Given the description of an element on the screen output the (x, y) to click on. 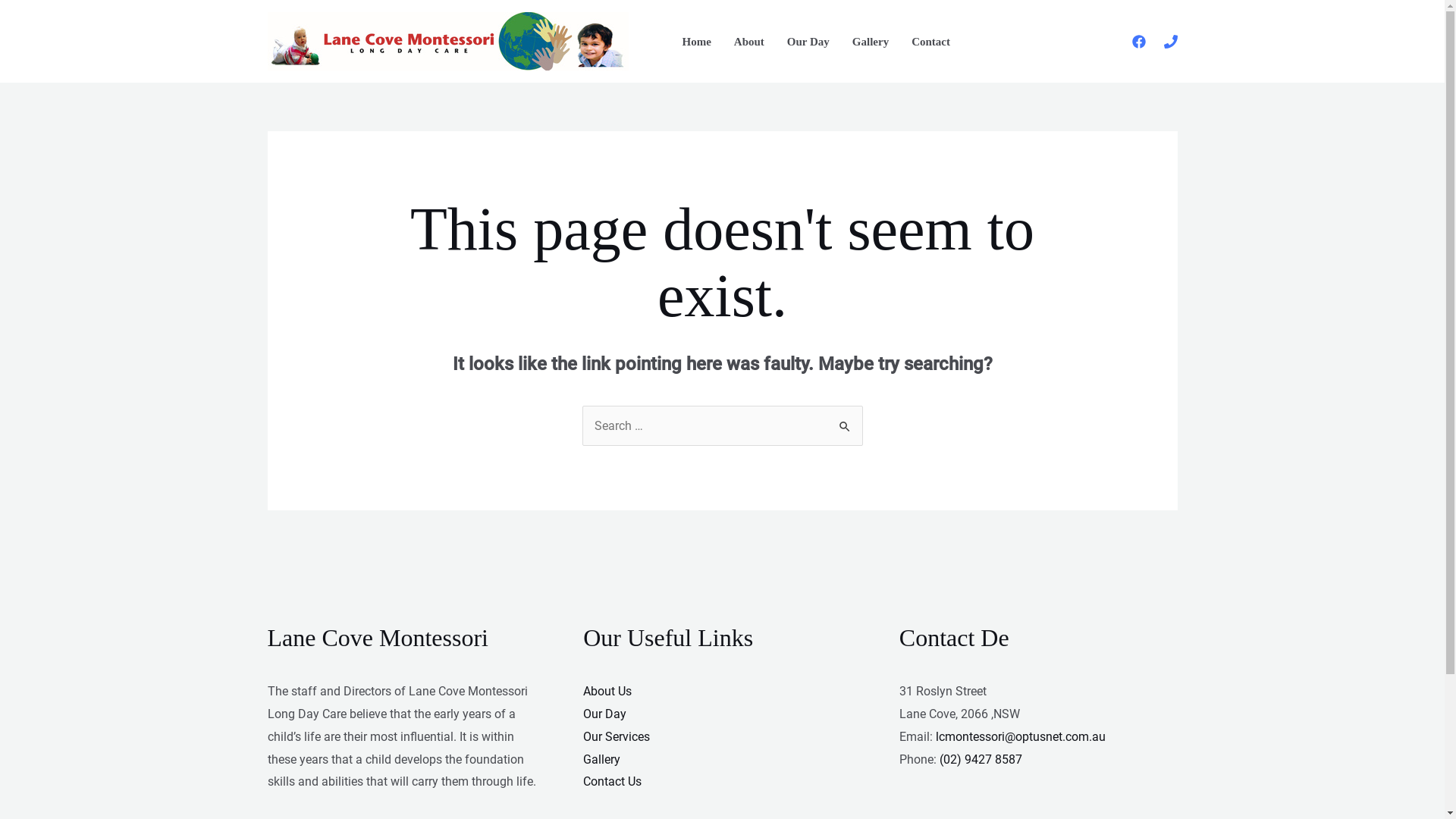
About Element type: text (748, 40)
Contact Element type: text (930, 40)
lcmontessori@optusnet.com.au Element type: text (1020, 736)
Contact Us Element type: text (612, 781)
Gallery Element type: text (601, 759)
Gallery Element type: text (870, 40)
Our Services Element type: text (616, 736)
(02) 9427 8587 Element type: text (980, 759)
Our Day Element type: text (807, 40)
Our Day Element type: text (604, 713)
Home Element type: text (695, 40)
Search Element type: text (845, 420)
About Us Element type: text (607, 691)
